Given the description of an element on the screen output the (x, y) to click on. 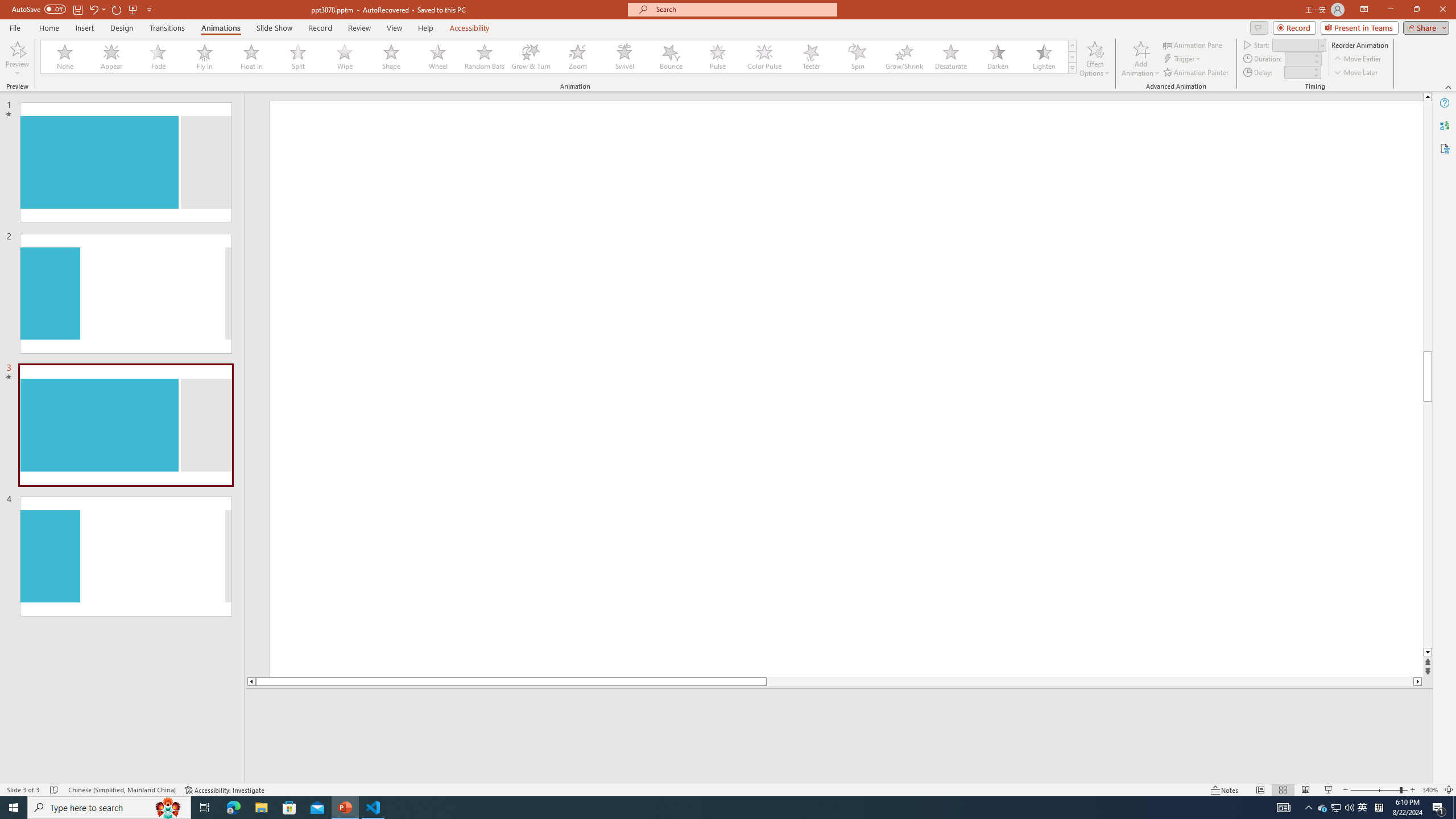
Animation Pane (1193, 44)
Random Bars (484, 56)
Lighten (1043, 56)
Float In (251, 56)
Grow/Shrink (903, 56)
